Given the description of an element on the screen output the (x, y) to click on. 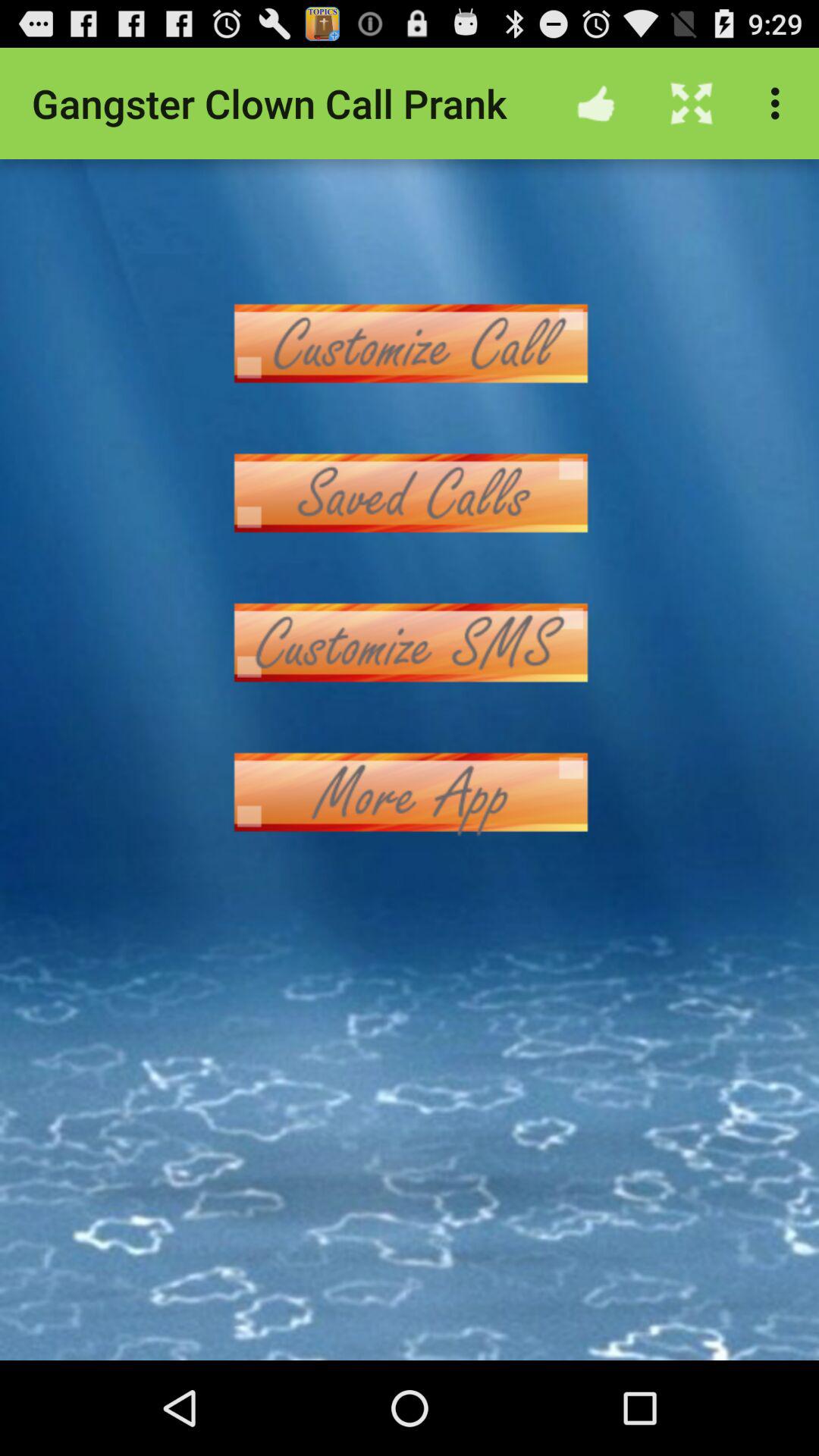
see saved calls (409, 492)
